Given the description of an element on the screen output the (x, y) to click on. 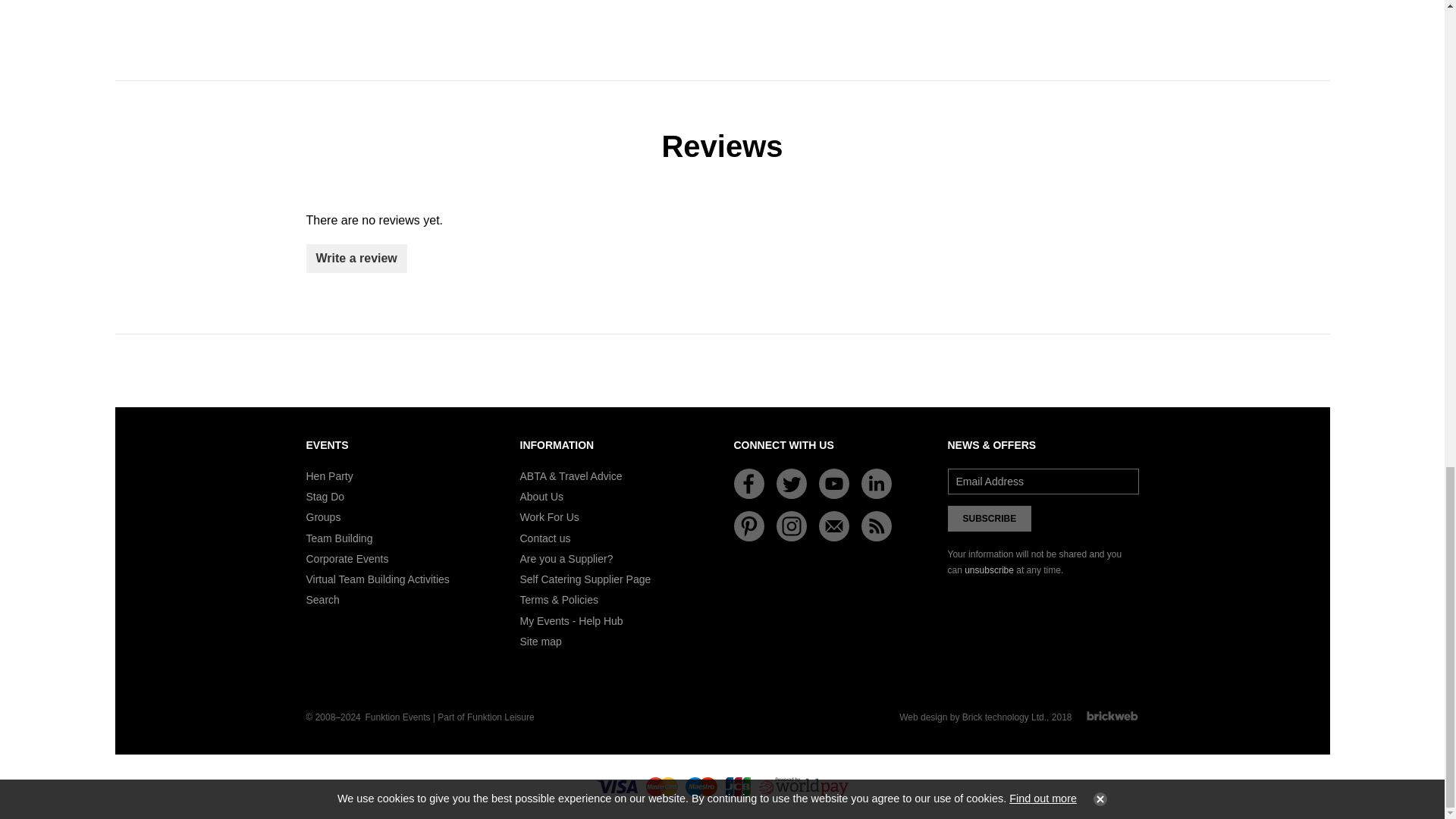
Subscribe (989, 518)
Find event you are looking for (322, 600)
